Given the description of an element on the screen output the (x, y) to click on. 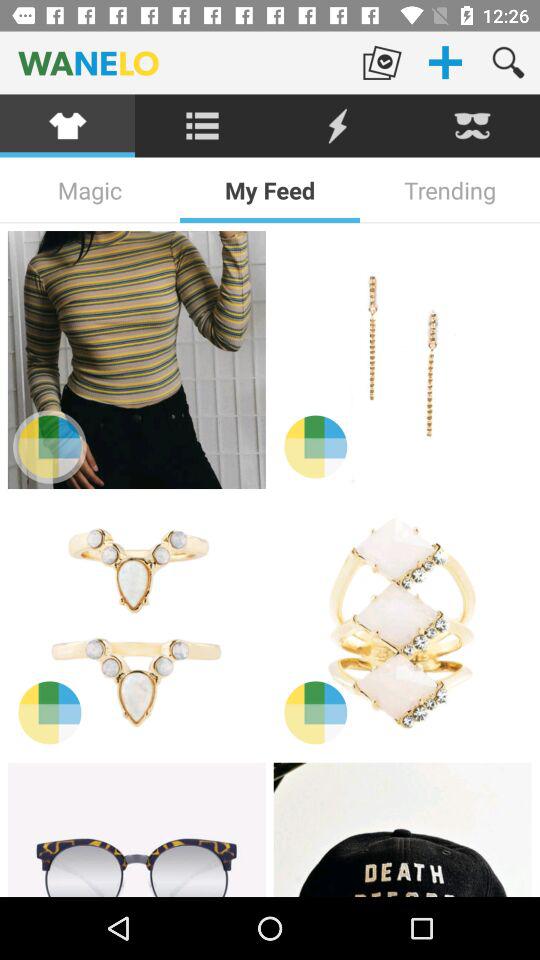
tap my feed icon (270, 190)
